Given the description of an element on the screen output the (x, y) to click on. 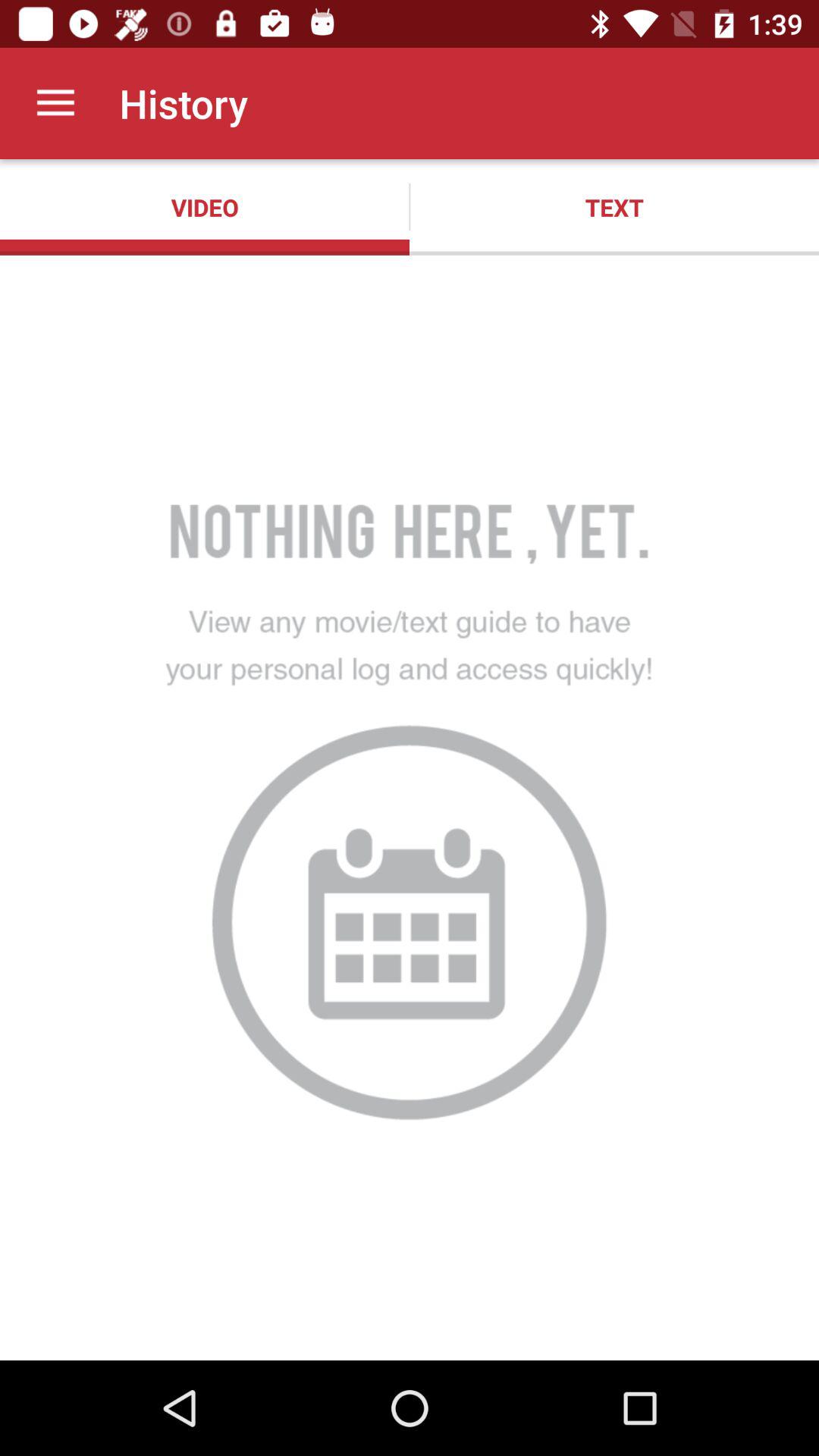
click text (614, 207)
